Given the description of an element on the screen output the (x, y) to click on. 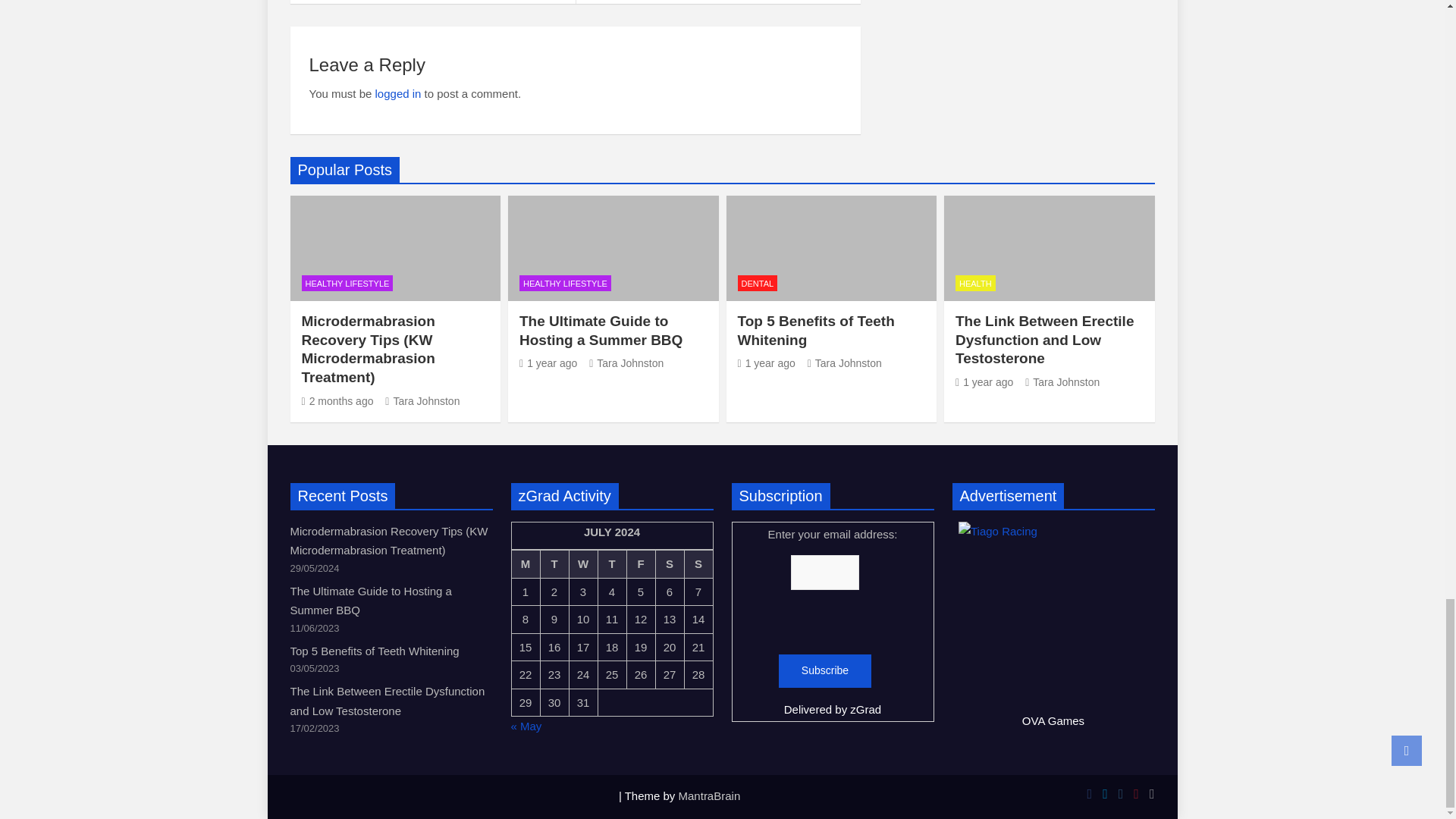
The Link Between Erectile Dysfunction and Low Testosterone (984, 381)
Top 5 Benefits of Teeth Whitening (765, 363)
logged in (398, 92)
The Ultimate Guide to Hosting a Summer BBQ (547, 363)
Thursday (611, 564)
Wednesday (582, 564)
Subscribe (824, 670)
Tuesday (554, 564)
Monday (525, 564)
